Given the description of an element on the screen output the (x, y) to click on. 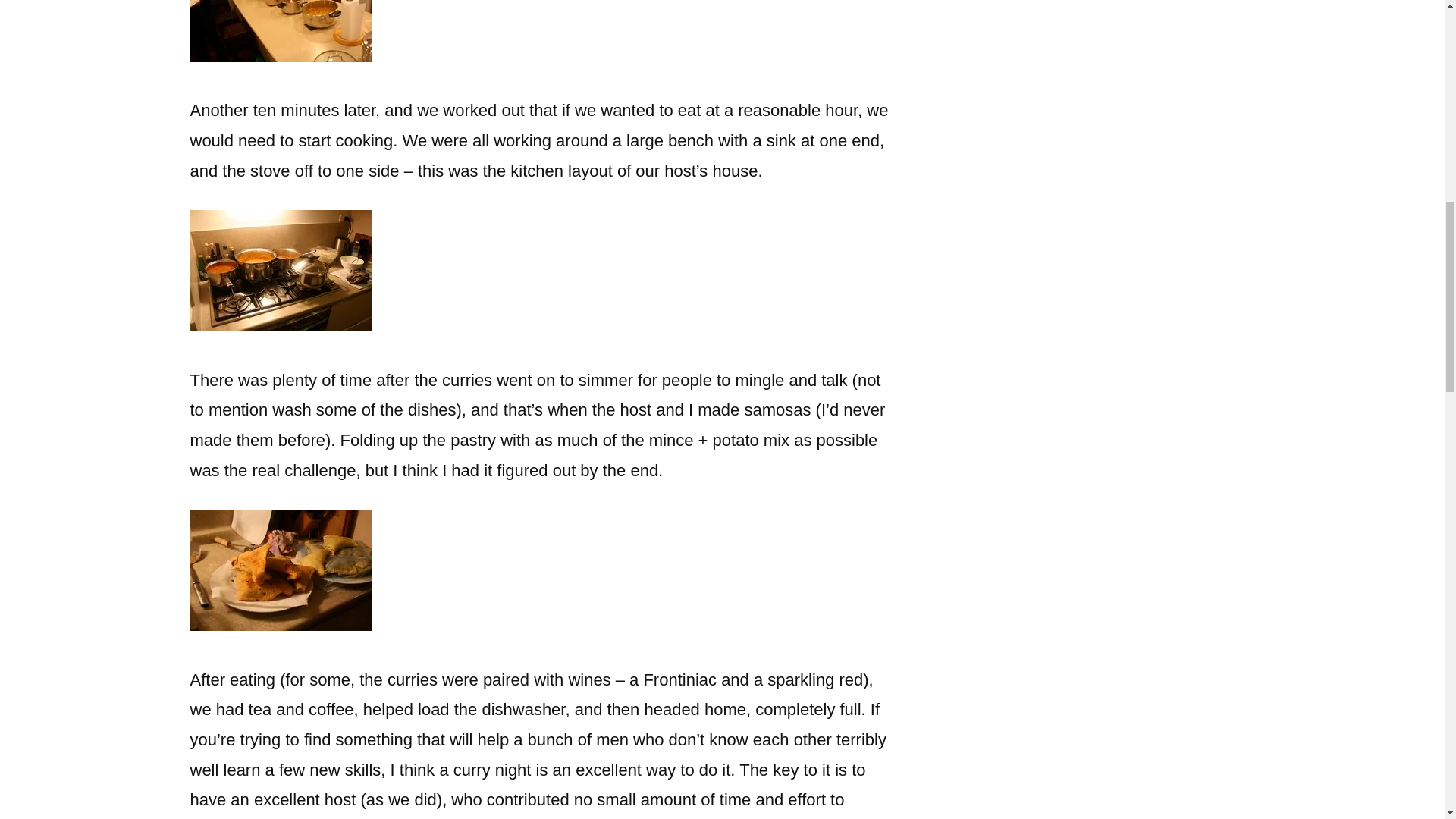
four curries cooking away by cafedave, on Flickr (280, 325)
ready to serve by cafedave, on Flickr (280, 56)
samosas: after and before by cafedave, on Flickr (280, 624)
